Given the description of an element on the screen output the (x, y) to click on. 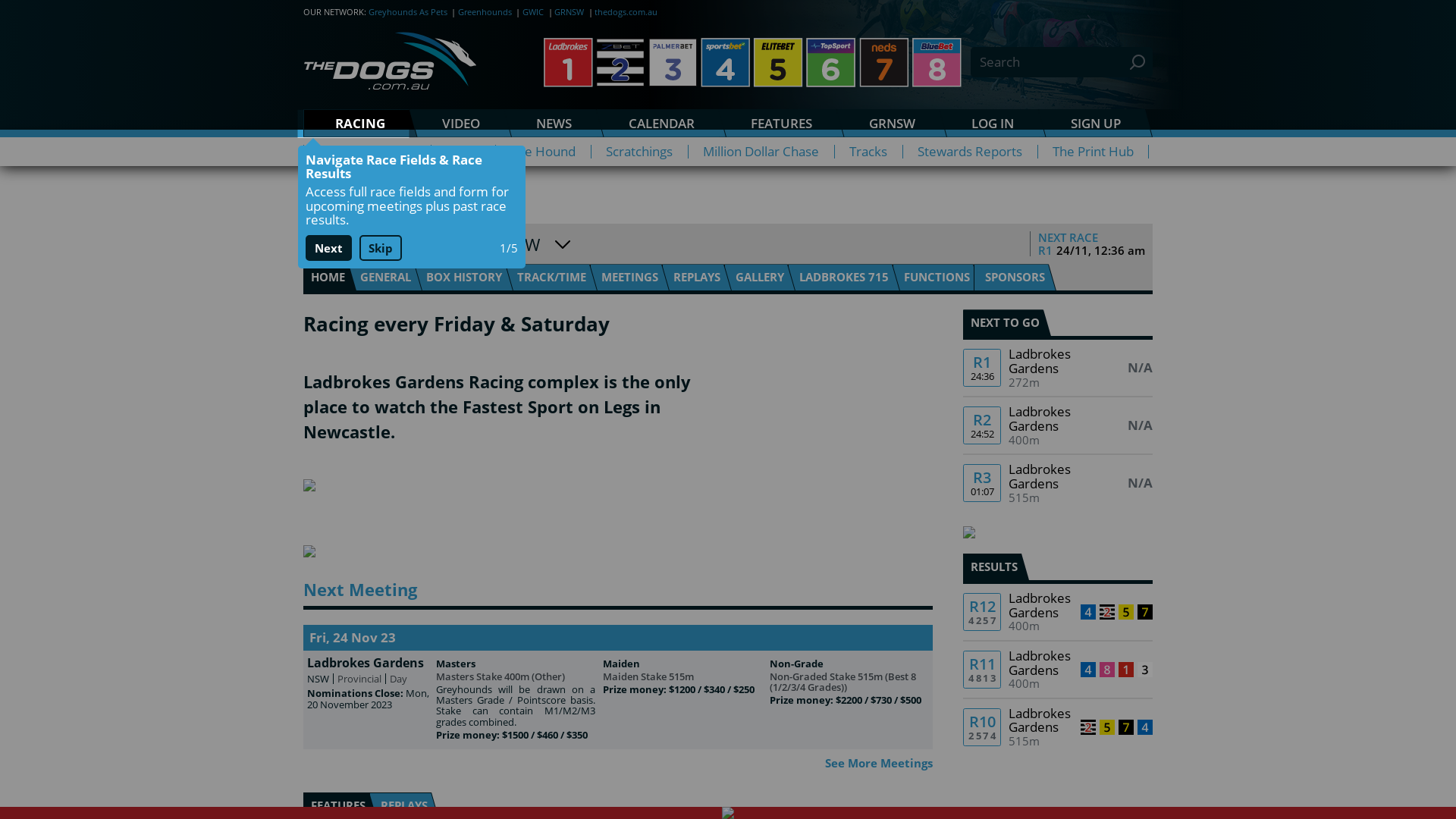
Next Element type: text (327, 247)
GALLERY Element type: text (759, 276)
SIGN UP Element type: text (1095, 123)
Million Dollar Chase Element type: text (760, 151)
Fields Element type: text (462, 151)
VIDEO Element type: text (460, 123)
Ladbrokes Gardens
NSW Element type: text (440, 243)
NEWS Element type: text (554, 123)
R3
01:07
Ladbrokes Gardens
515m
N/A Element type: text (1057, 483)
Tracks Element type: text (868, 151)
TRACK/TIME Element type: text (551, 276)
MEETINGS Element type: text (629, 276)
R2
24:52
Ladbrokes Gardens
400m
N/A Element type: text (1057, 425)
FEATURES Element type: text (781, 123)
Stewards Reports Element type: text (969, 151)
R11
4
8
1
3
Ladbrokes Gardens
400m Element type: text (1057, 669)
R12
4
2
5
7
Ladbrokes Gardens
400m Element type: text (1057, 611)
R10
2
5
7
4
Ladbrokes Gardens
515m Element type: text (1057, 727)
R1
24:36
Ladbrokes Gardens
272m
N/A Element type: text (1057, 367)
The Hound Element type: text (542, 151)
The Print Hub Element type: text (1092, 151)
BOX HISTORY Element type: text (463, 276)
HOME Element type: text (329, 276)
LADBROKES 715 Element type: text (843, 276)
GWIC Element type: text (532, 11)
Racing & Results Element type: text (366, 151)
LOG IN Element type: text (992, 123)
CALENDAR Element type: text (661, 123)
SPONSORS Element type: text (1014, 276)
REPLAYS Element type: text (696, 276)
GRNSW Element type: text (892, 123)
RACING Element type: text (360, 123)
FUNCTIONS Element type: text (936, 276)
thedogs.com.au Element type: text (625, 11)
Greenhounds Element type: text (484, 11)
GENERAL Element type: text (385, 276)
GRNSW Element type: text (568, 11)
Skip Element type: text (380, 247)
See More Meetings Element type: text (878, 763)
Greyhounds As Pets Element type: text (407, 11)
Scratchings Element type: text (638, 151)
